Given the description of an element on the screen output the (x, y) to click on. 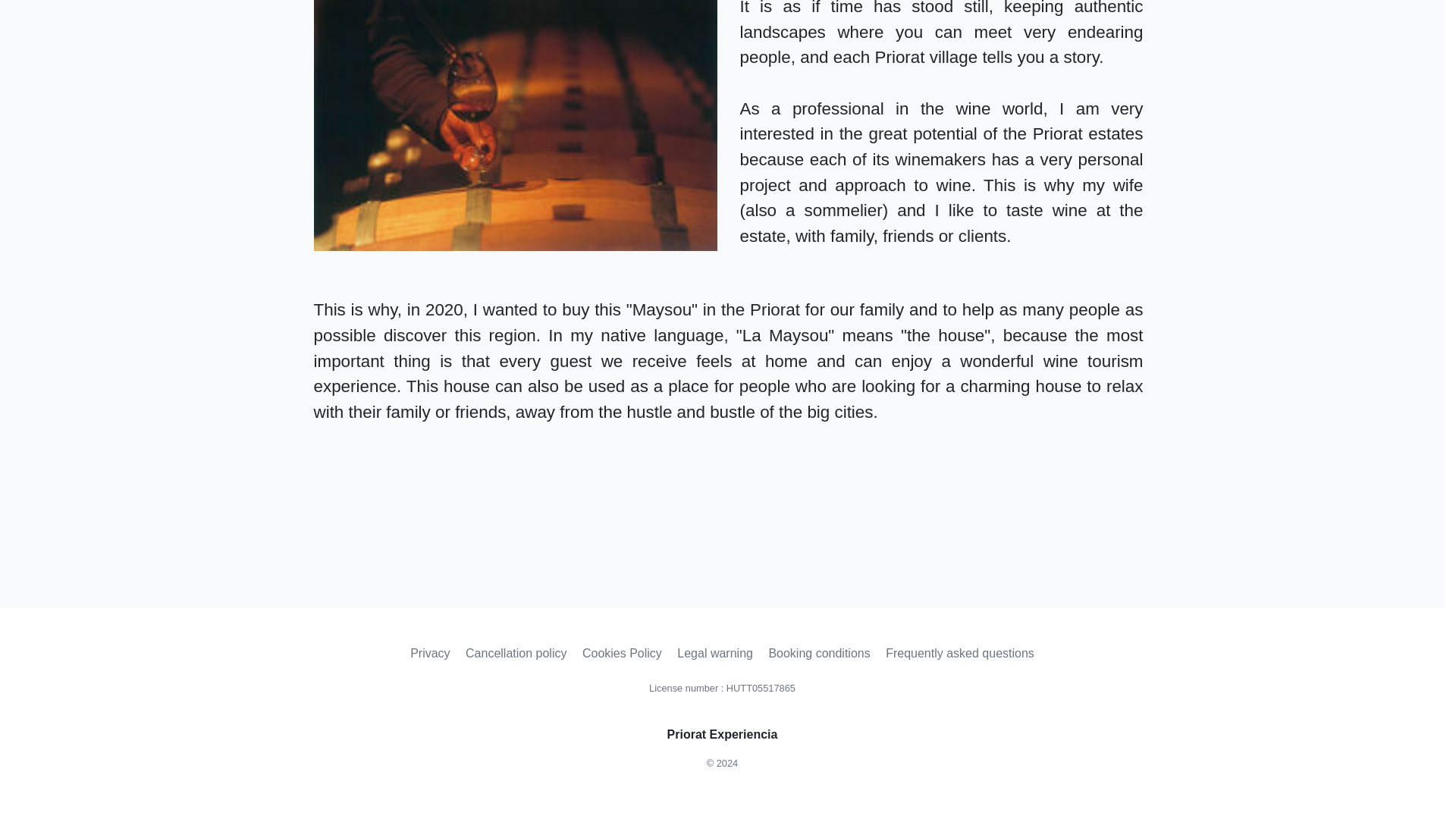
Frequently asked questions (960, 652)
Legal warning (714, 652)
Booking conditions (818, 652)
Privacy (429, 652)
Cookies Policy (622, 652)
Cancellation policy (516, 652)
